Given the description of an element on the screen output the (x, y) to click on. 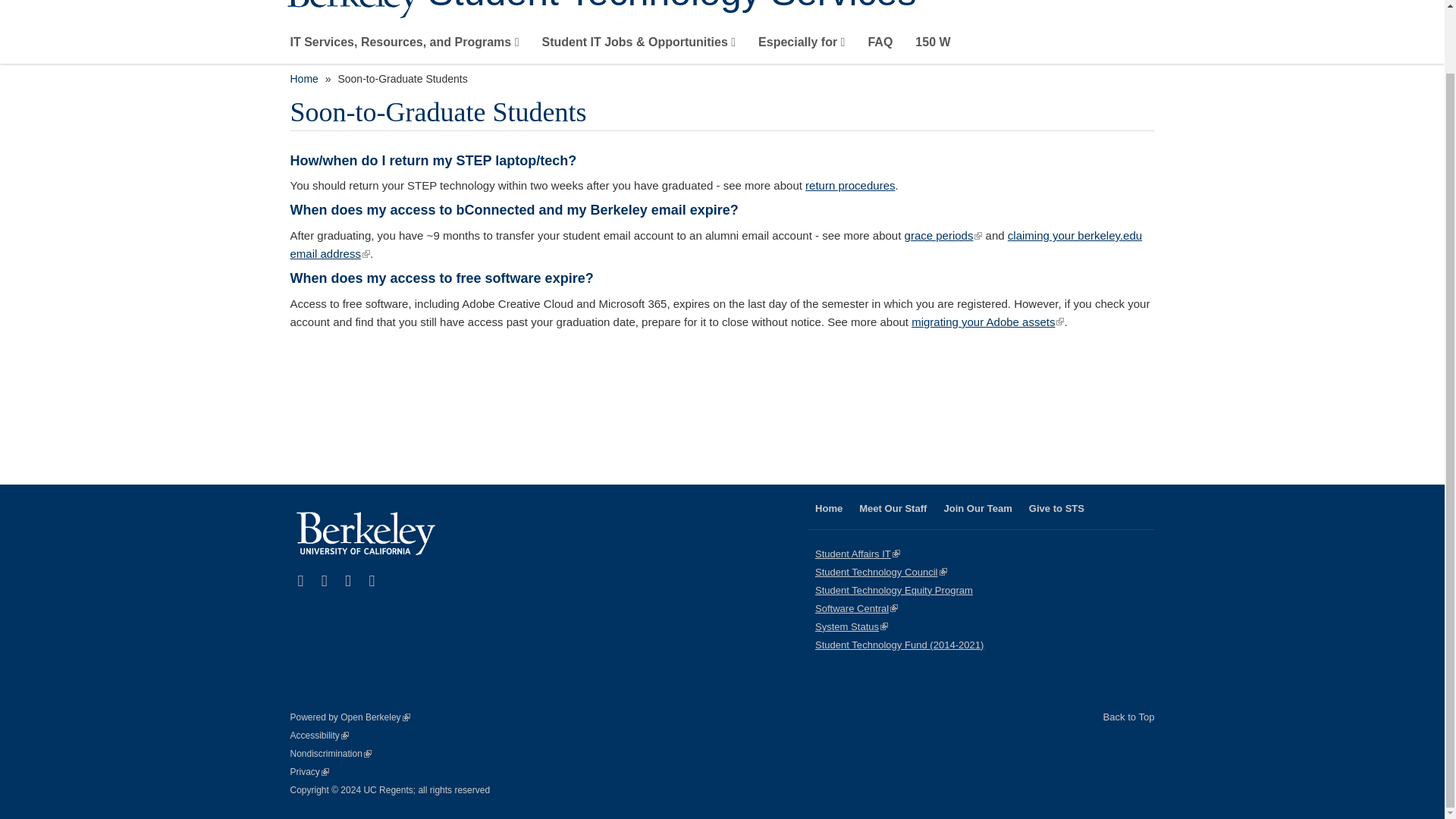
Especially for (801, 45)
Home (791, 8)
150 W (932, 45)
Student Technology Services (791, 8)
IT Services, Resources, and Programs (403, 45)
return procedures (850, 185)
Drop down menu for student population pages (801, 45)
Home (303, 78)
